Given the description of an element on the screen output the (x, y) to click on. 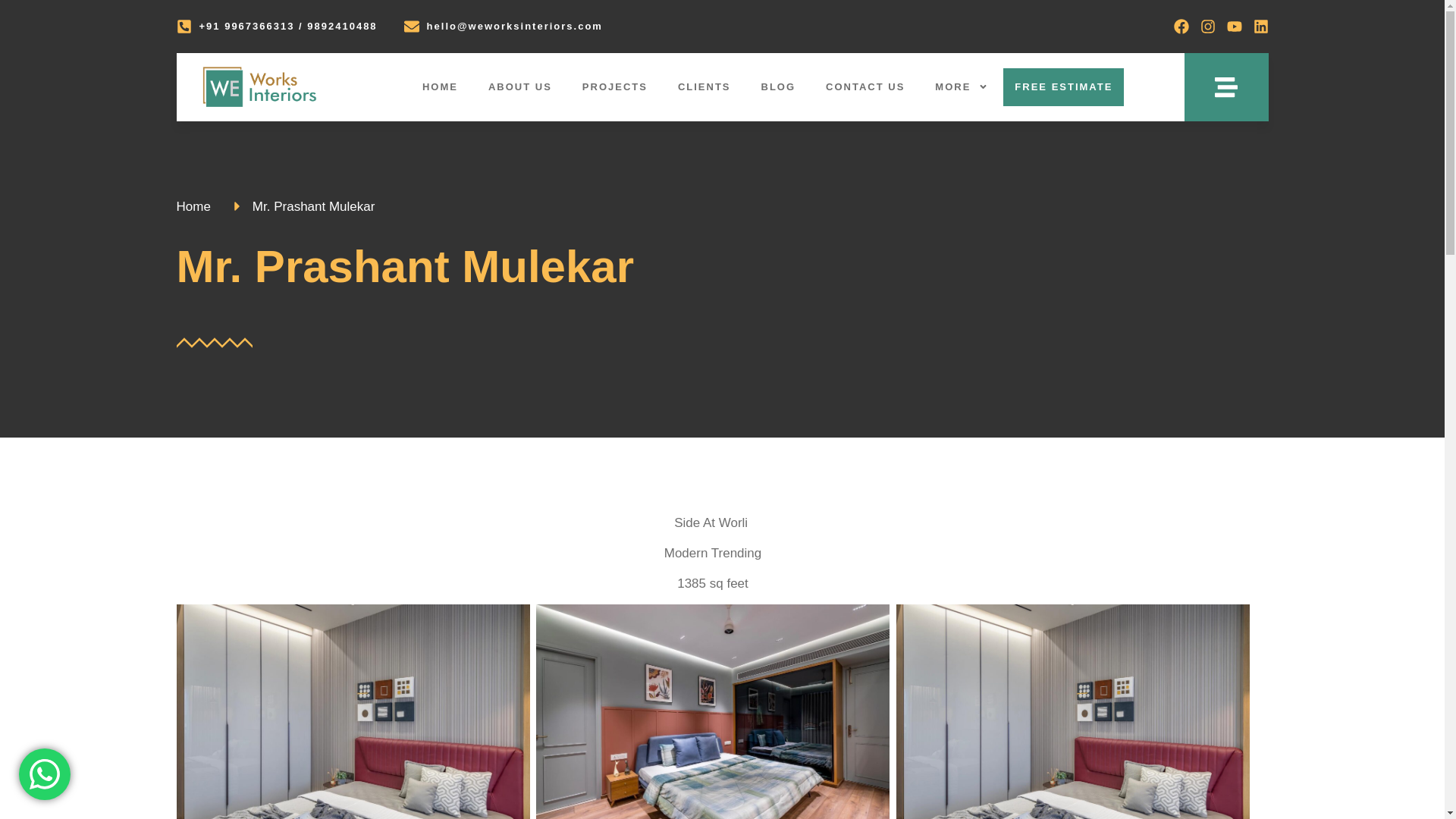
CLIENTS (703, 87)
BLOG (777, 87)
CONTACT US (865, 87)
MORE (961, 87)
WhatsApp us (43, 774)
HOME (440, 87)
ABOUT US (520, 87)
PROJECTS (614, 87)
FREE ESTIMATE (1063, 86)
